Given the description of an element on the screen output the (x, y) to click on. 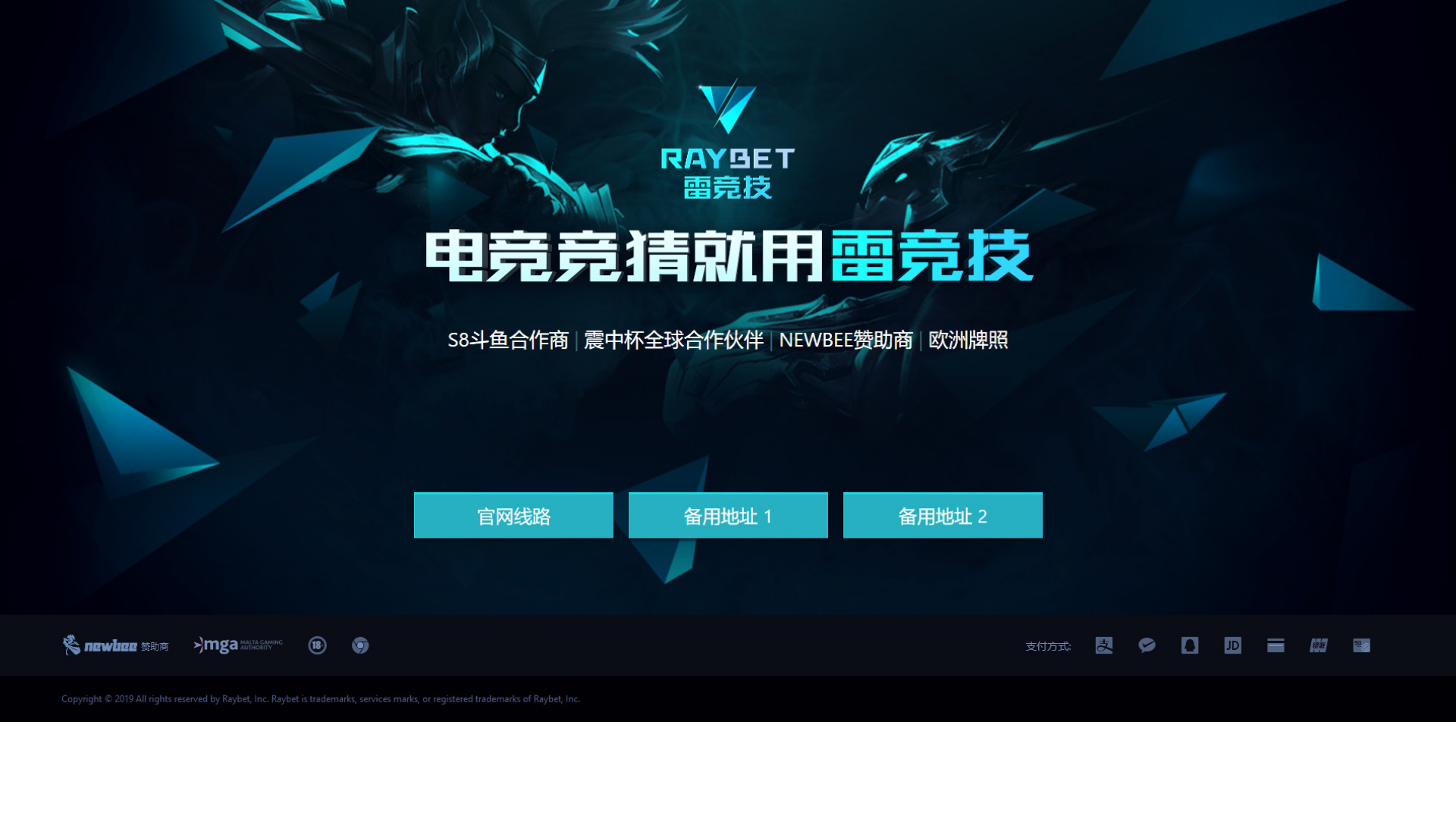
Sustainability Element type: text (720, 65)
Our Corporate Responsibility Element type: text (583, 65)
News & Insights Element type: text (1026, 20)
rayapp3 Element type: text (460, 65)
search Element type: text (1222, 61)
| Element type: text (1169, 20)
Our Story Element type: text (800, 65)
Suppliers Element type: text (852, 20)
